Given the description of an element on the screen output the (x, y) to click on. 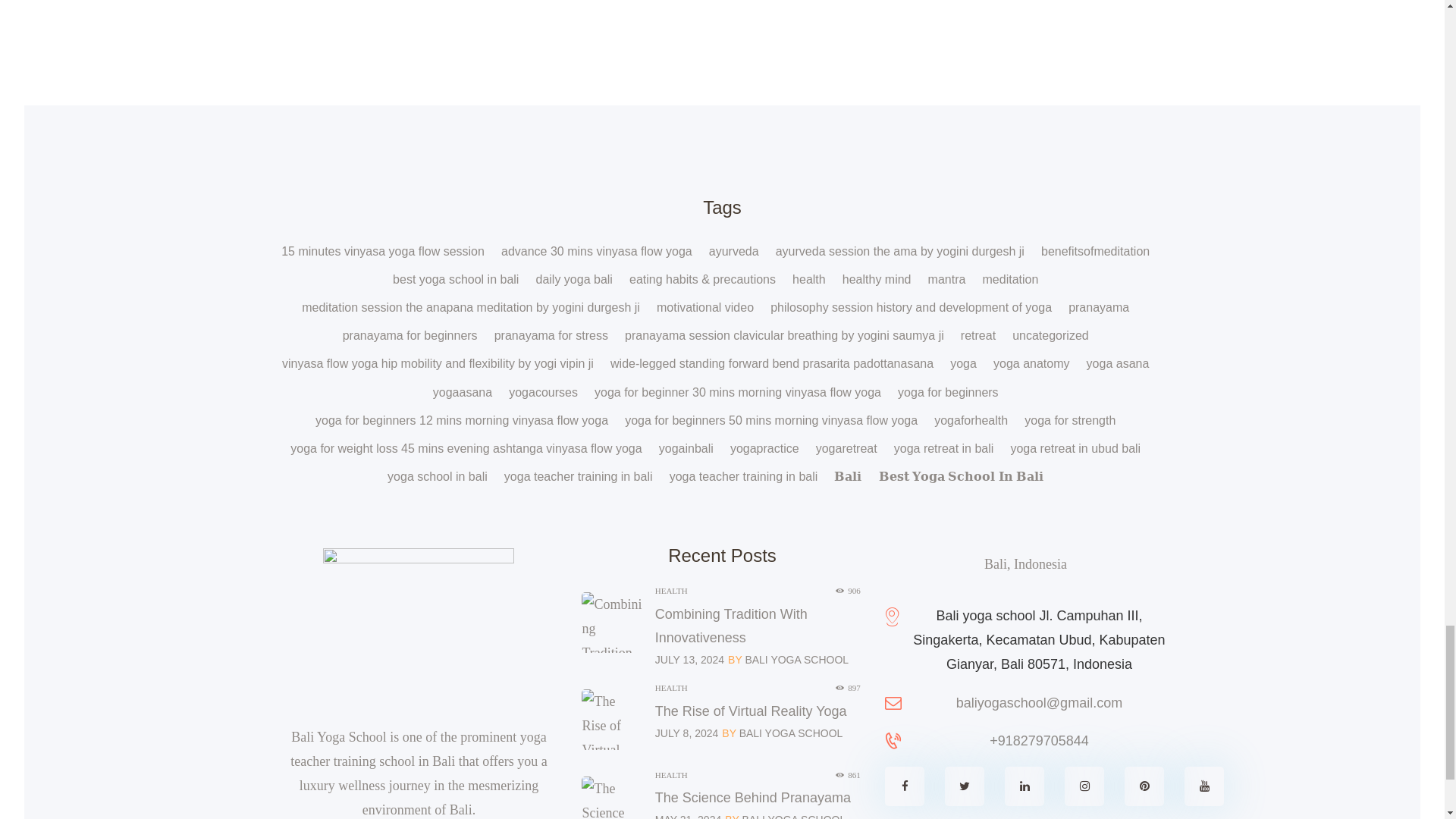
View all posts in Health (671, 590)
View all posts in Health (671, 774)
View all posts in Health (671, 687)
